Given the description of an element on the screen output the (x, y) to click on. 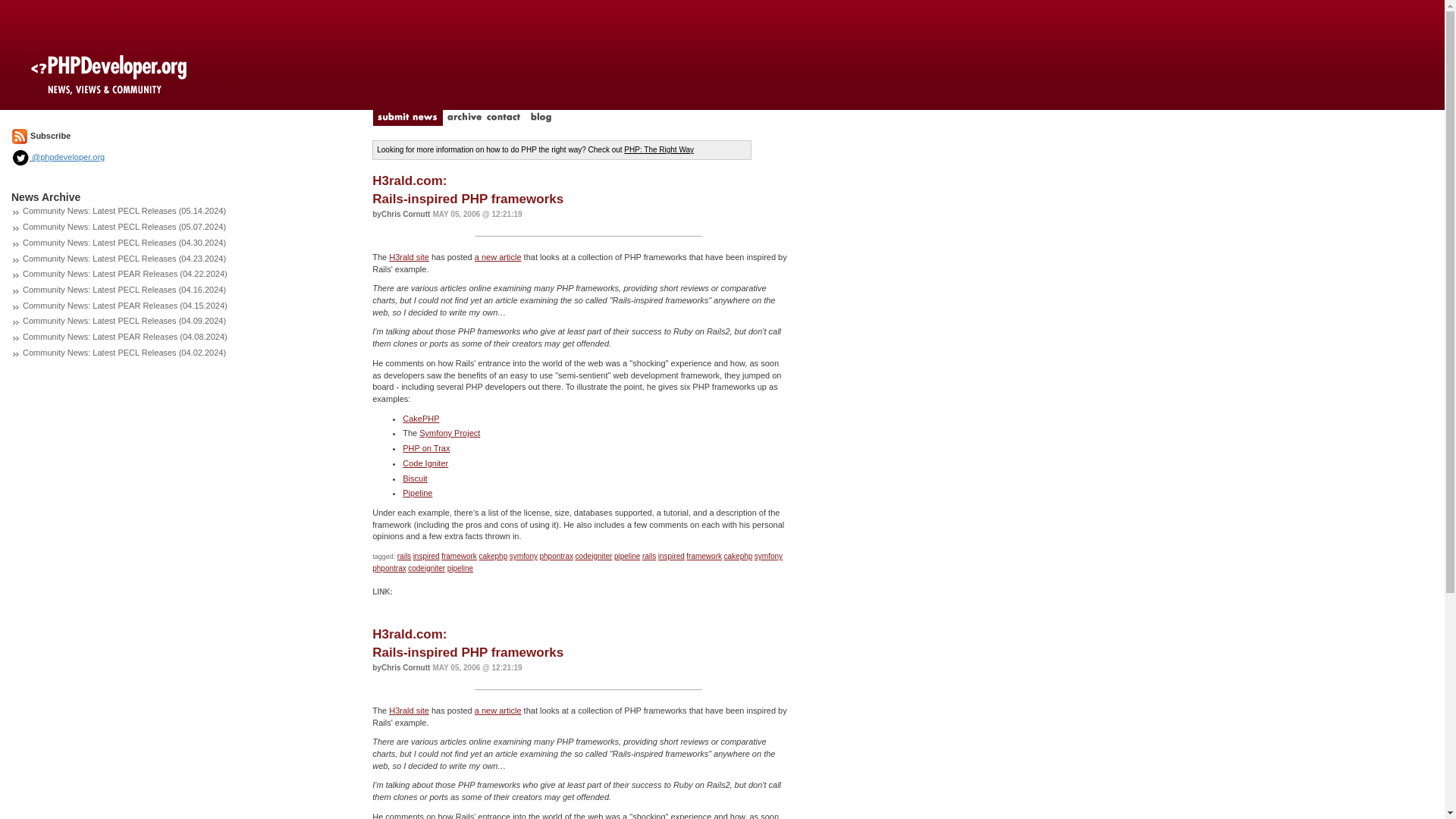
inspired (671, 556)
cakephp (492, 556)
CakePHP (421, 418)
codeigniter (593, 556)
Biscuit (414, 477)
framework (703, 556)
Code Igniter (425, 462)
framework (459, 556)
phpontrax (555, 556)
cakephp (737, 556)
H3rald site (408, 256)
Pipeline (417, 492)
inspired (426, 556)
symfony (768, 556)
a new article (497, 256)
